Given the description of an element on the screen output the (x, y) to click on. 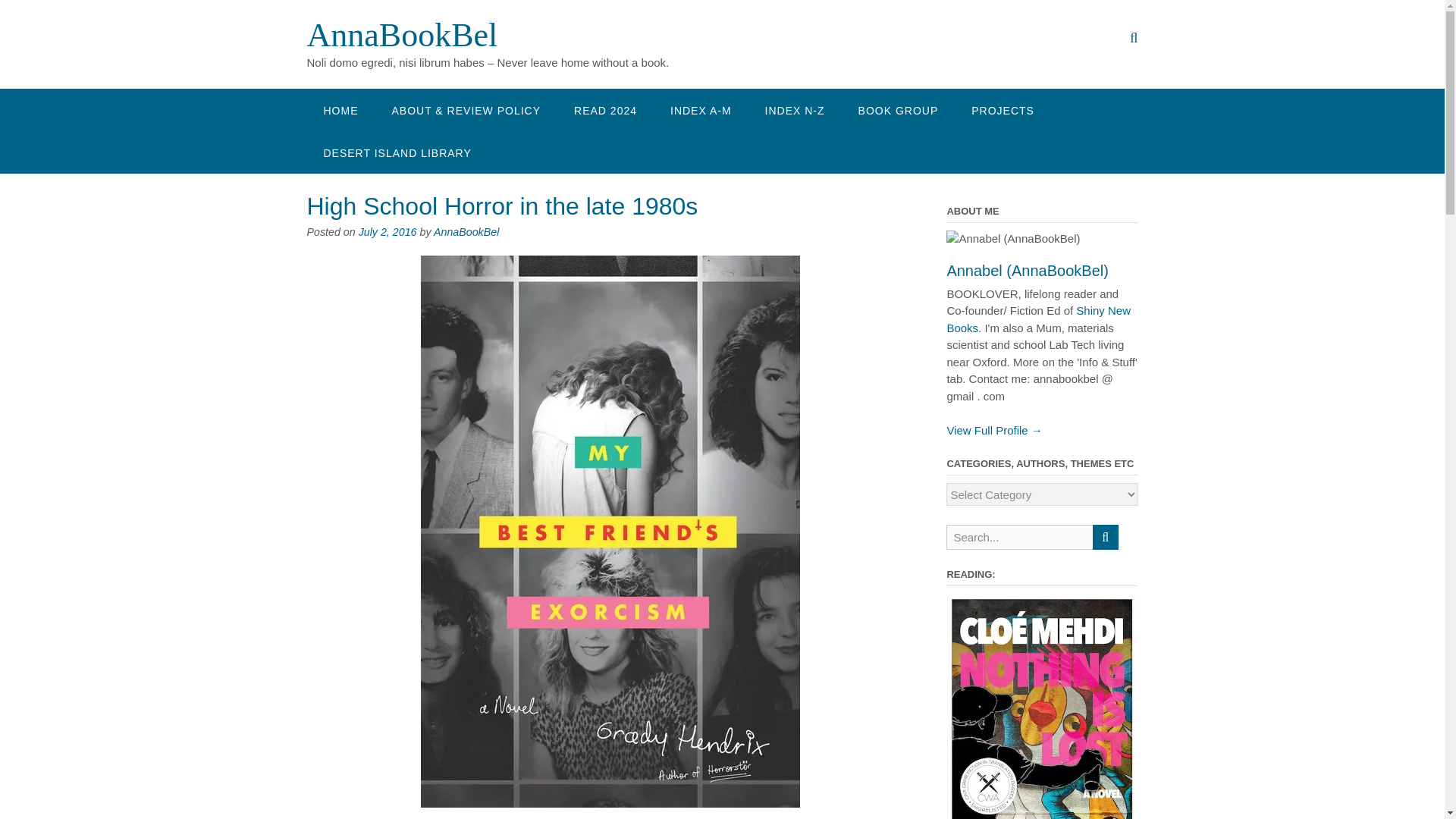
AnnaBookBel (401, 35)
DESERT ISLAND LIBRARY (396, 152)
HOME (339, 109)
AnnaBookBel (401, 35)
BOOK GROUP (898, 109)
PROJECTS (1003, 109)
INDEX N-Z (794, 109)
Search for: (1019, 536)
INDEX A-M (700, 109)
AnnaBookBel (466, 232)
